Given the description of an element on the screen output the (x, y) to click on. 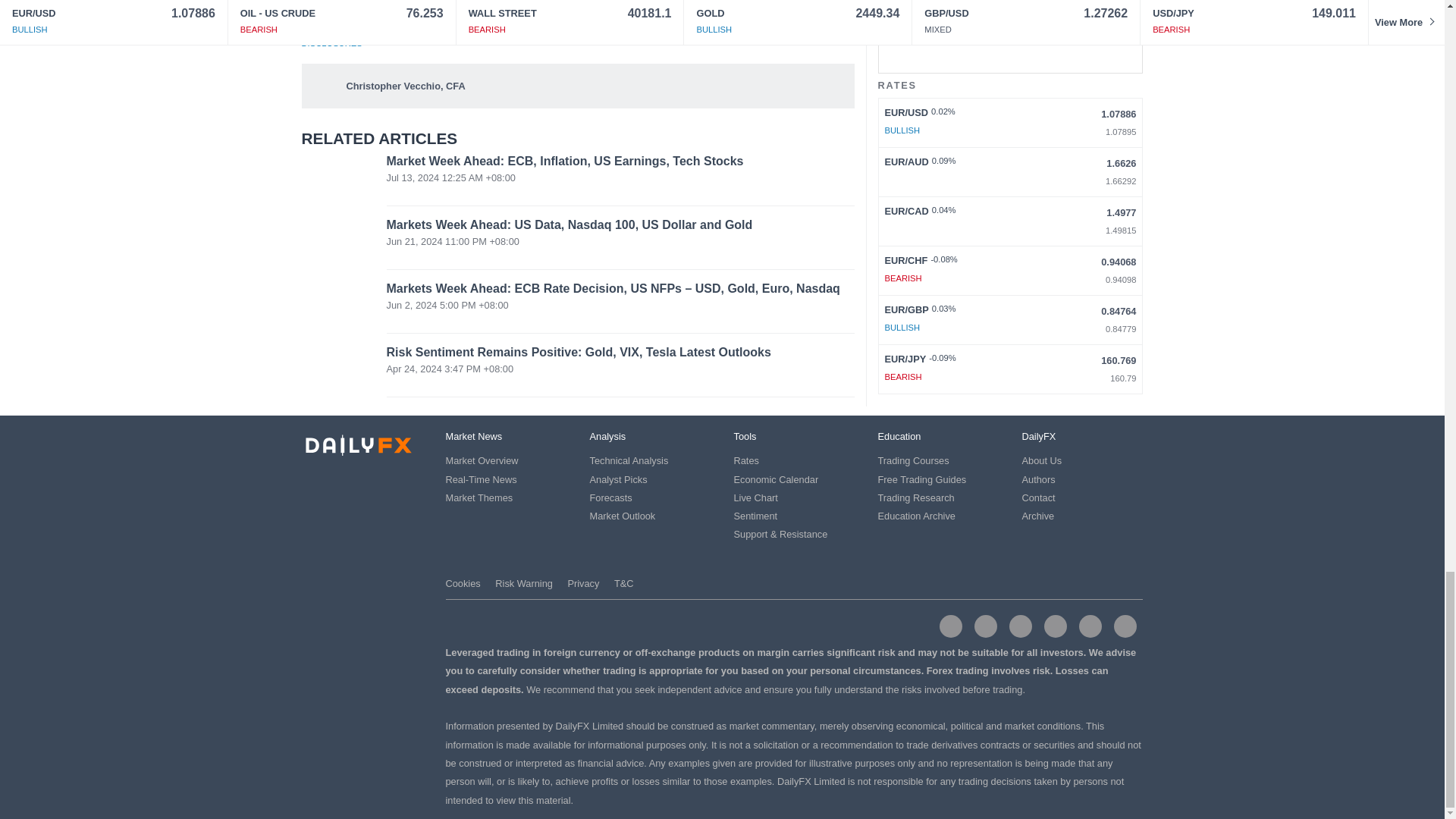
Market News (473, 436)
Analysis (607, 436)
Technical Analysis (628, 460)
Rates (745, 460)
Forecasts (610, 497)
Market Outlook (622, 515)
Market Themes (479, 497)
Tools (745, 436)
Real-Time News (480, 479)
Economic Calendar (775, 479)
Analyst Picks (618, 479)
Live Chart (755, 497)
Market Overview (481, 460)
